Given the description of an element on the screen output the (x, y) to click on. 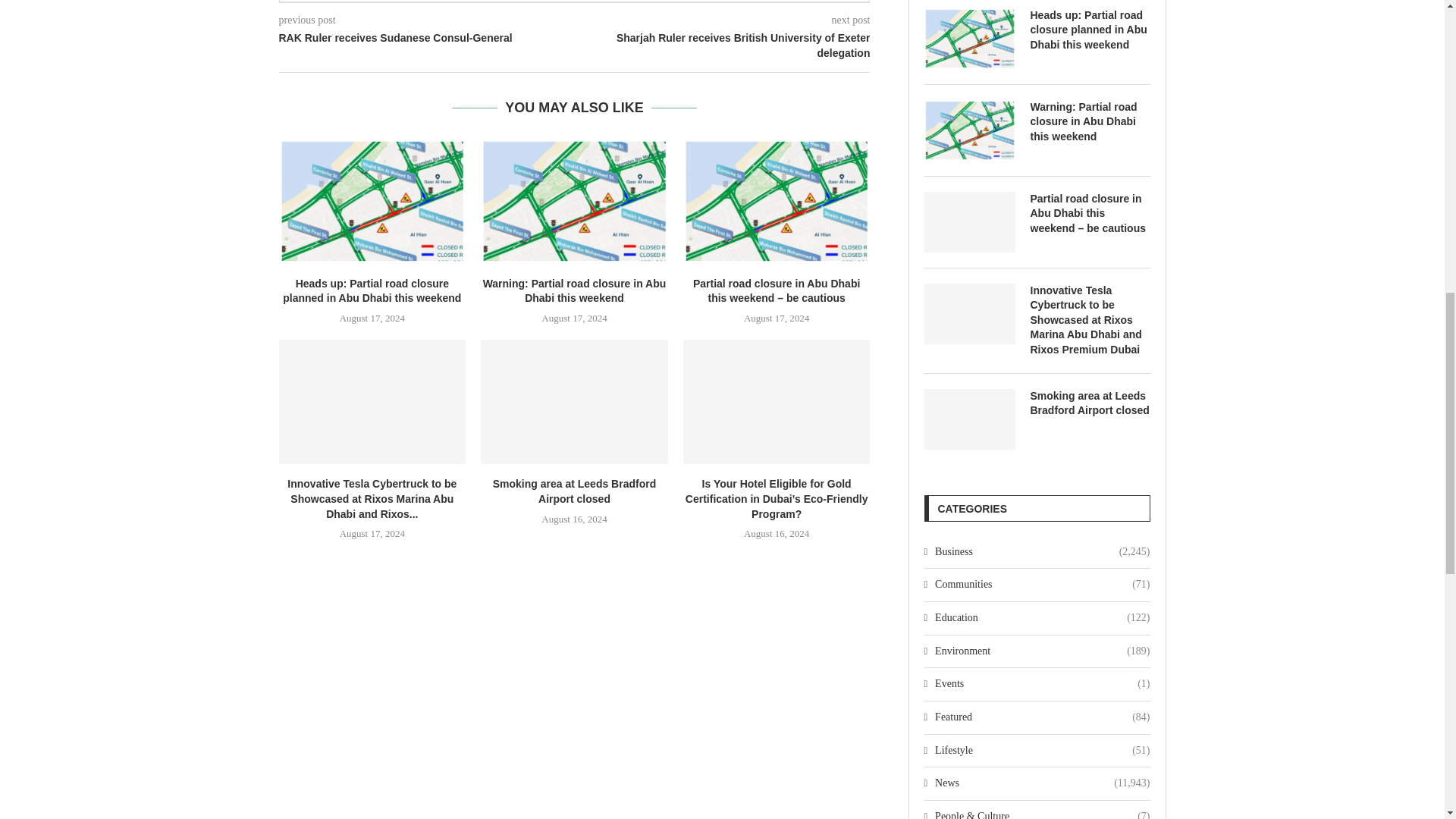
Smoking area at Leeds Bradford Airport closed (574, 401)
Warning: Partial road closure in Abu Dhabi this weekend (968, 129)
Warning: Partial road closure in Abu Dhabi this weekend (1089, 121)
Warning: Partial road closure in Abu Dhabi this weekend (574, 200)
